Given the description of an element on the screen output the (x, y) to click on. 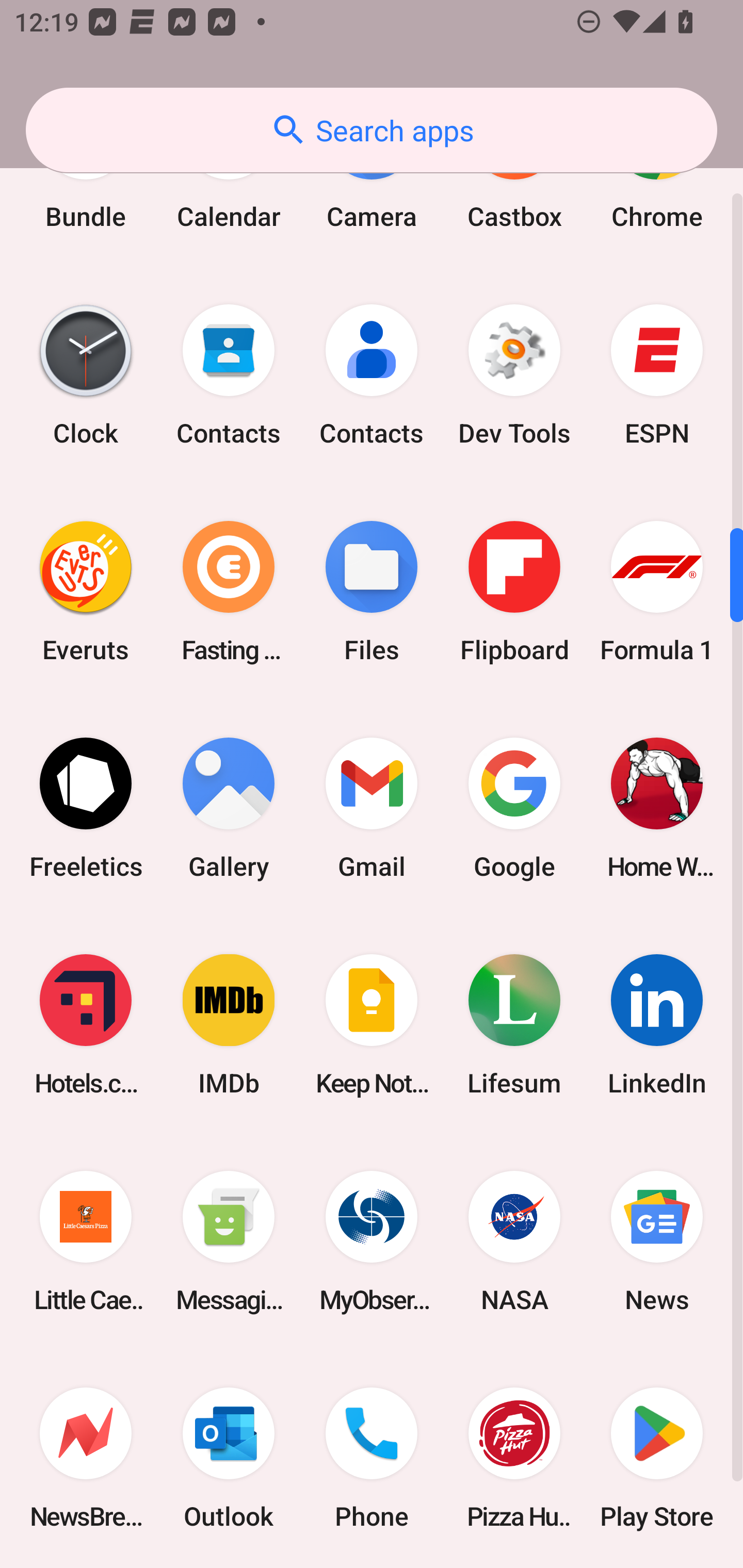
  Search apps (371, 130)
Clock (85, 374)
Contacts (228, 374)
Contacts (371, 374)
Dev Tools (514, 374)
ESPN (656, 374)
Everuts (85, 590)
Fasting Coach (228, 590)
Files (371, 590)
Flipboard (514, 590)
Formula 1 (656, 590)
Freeletics (85, 808)
Gallery (228, 808)
Gmail (371, 808)
Google (514, 808)
Home Workout (656, 808)
Hotels.com (85, 1025)
IMDb (228, 1025)
Keep Notes (371, 1025)
Lifesum (514, 1025)
LinkedIn (656, 1025)
Little Caesars Pizza (85, 1241)
Messaging (228, 1241)
MyObservatory (371, 1241)
NASA (514, 1241)
News (656, 1241)
NewsBreak (85, 1458)
Outlook (228, 1458)
Phone (371, 1458)
Pizza Hut HK & Macau (514, 1458)
Play Store (656, 1458)
